Given the description of an element on the screen output the (x, y) to click on. 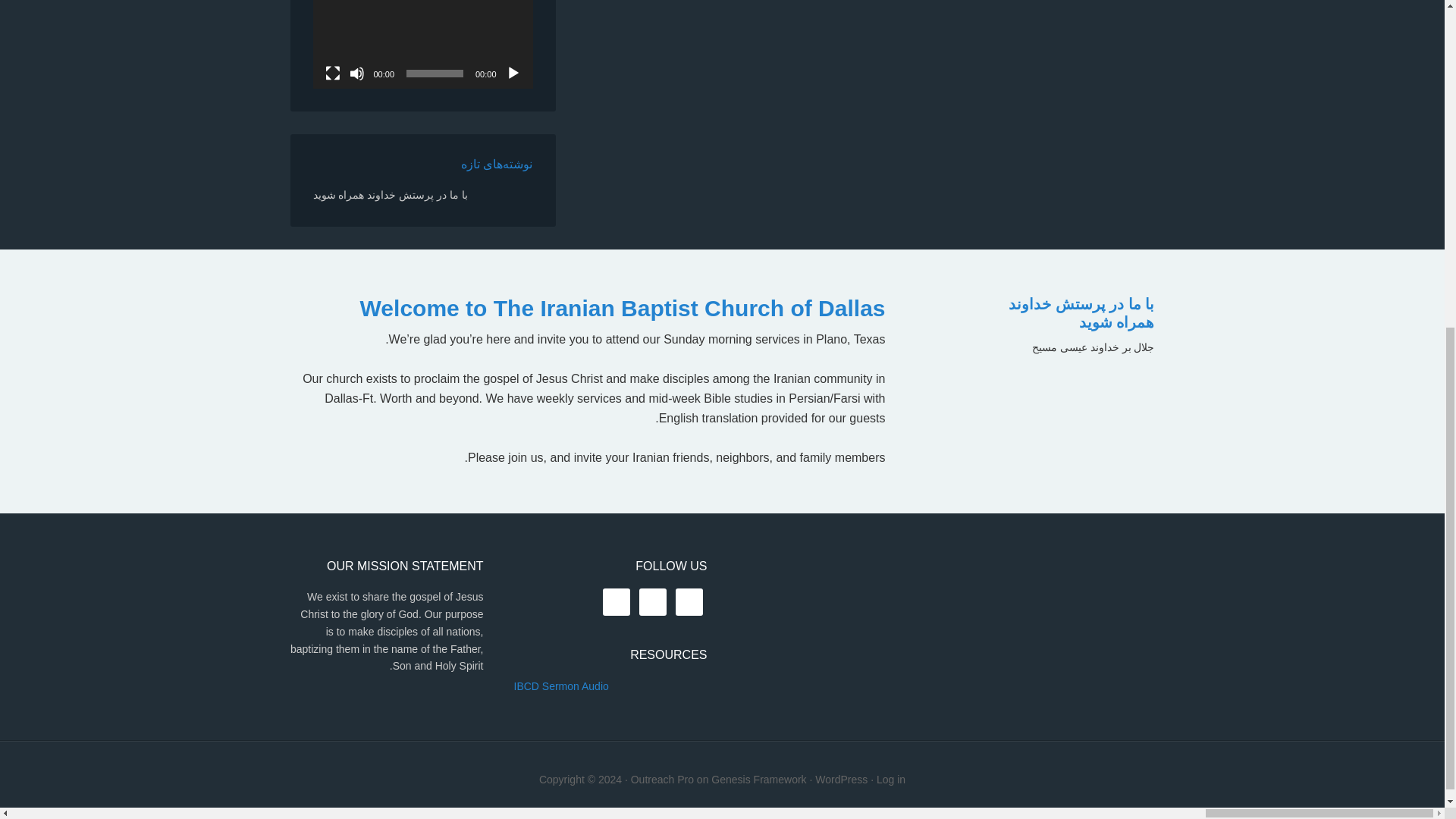
Genesis Framework (758, 779)
Outreach Pro (662, 779)
Log in (890, 779)
WordPress (841, 779)
Welcome to The Iranian Baptist Church of Dallas (622, 308)
IBCD Sermon Audio (560, 685)
